Given the description of an element on the screen output the (x, y) to click on. 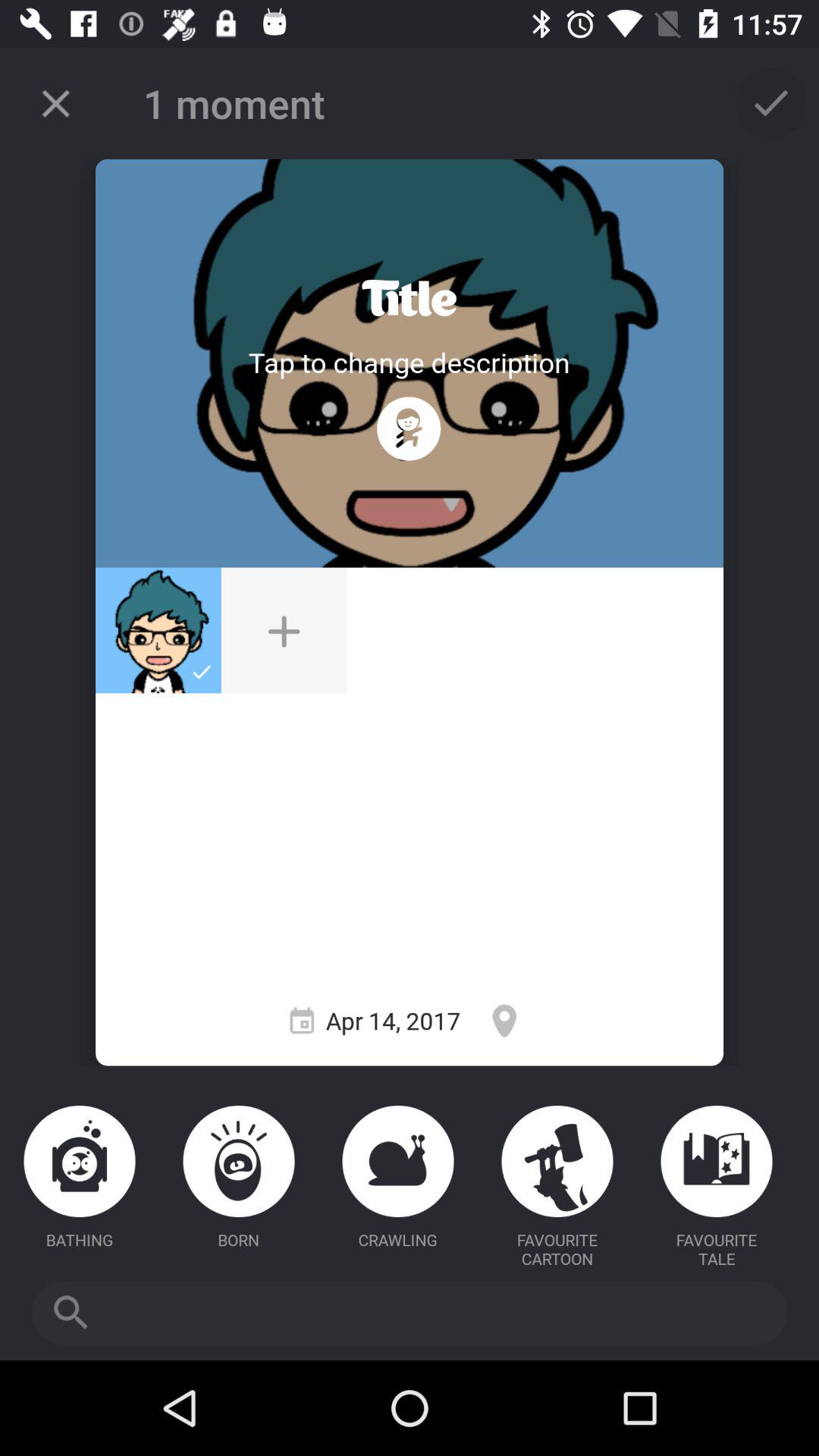
add new vedios (283, 630)
